Given the description of an element on the screen output the (x, y) to click on. 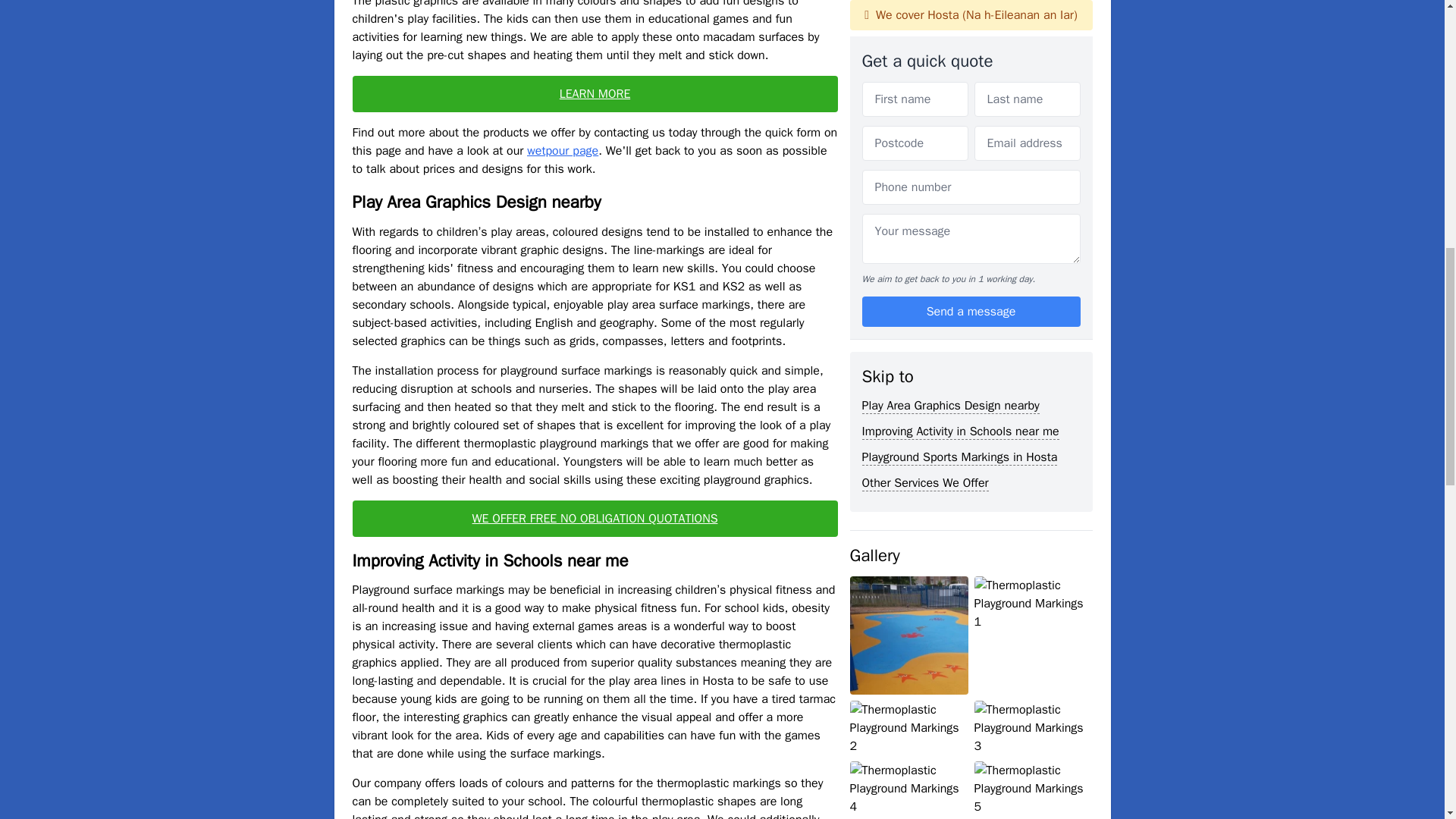
LEARN MORE (594, 94)
WE OFFER FREE NO OBLIGATION QUOTATIONS (594, 518)
Other Services We Offer (924, 83)
Improving Activity in Schools near me (959, 32)
Playground Sports Markings in Hosta (959, 57)
Play Area Graphics Design nearby (950, 7)
wetpour page (562, 150)
